Given the description of an element on the screen output the (x, y) to click on. 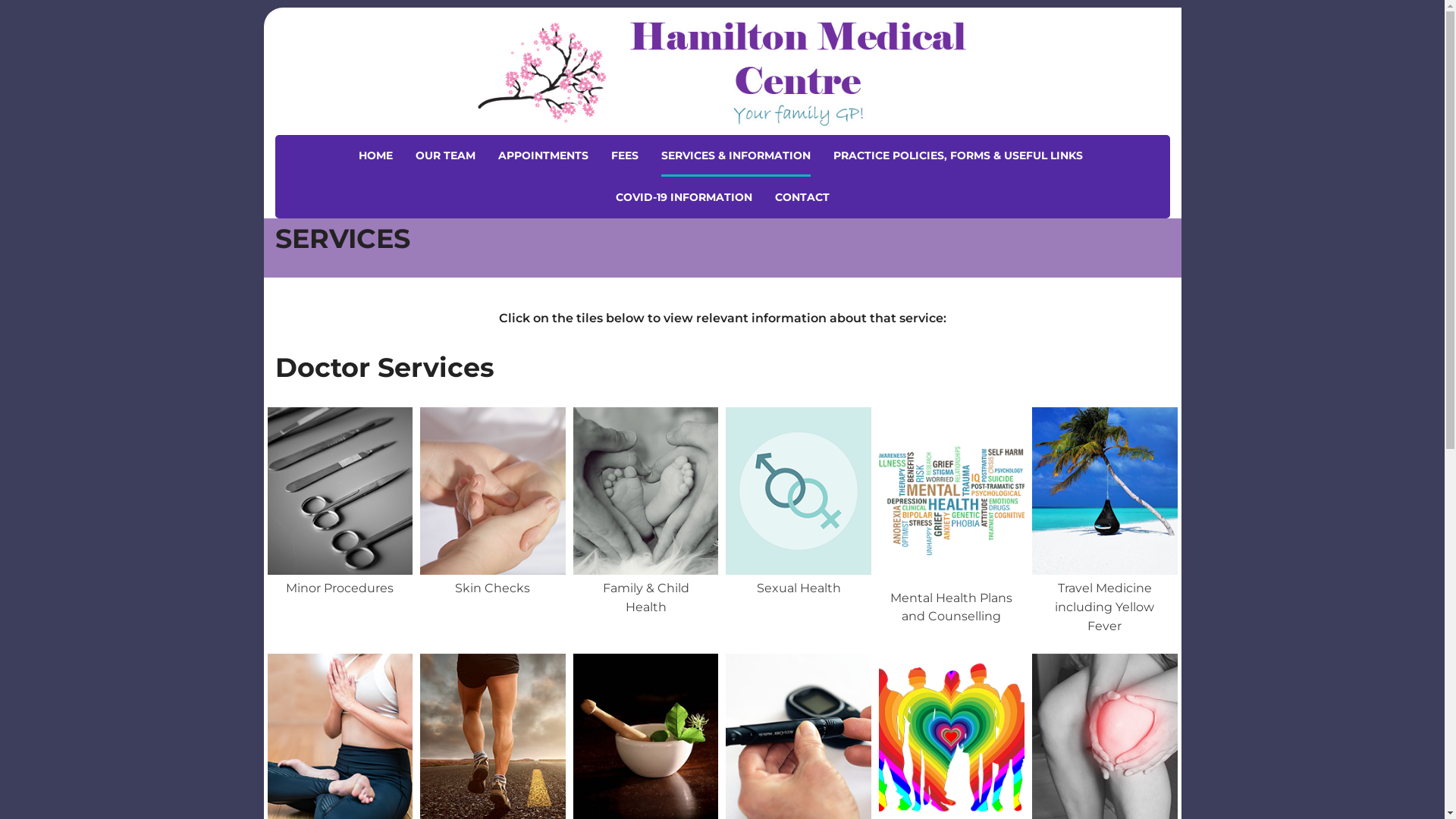
APPOINTMENTS Element type: text (542, 155)
CONTACT Element type: text (802, 197)
SERVICES & INFORMATION Element type: text (735, 155)
OUR TEAM Element type: text (445, 155)
FEES Element type: text (624, 155)
COVID-19 INFORMATION Element type: text (683, 197)
PRACTICE POLICIES, FORMS & USEFUL LINKS Element type: text (957, 155)
HOME Element type: text (374, 155)
